Given the description of an element on the screen output the (x, y) to click on. 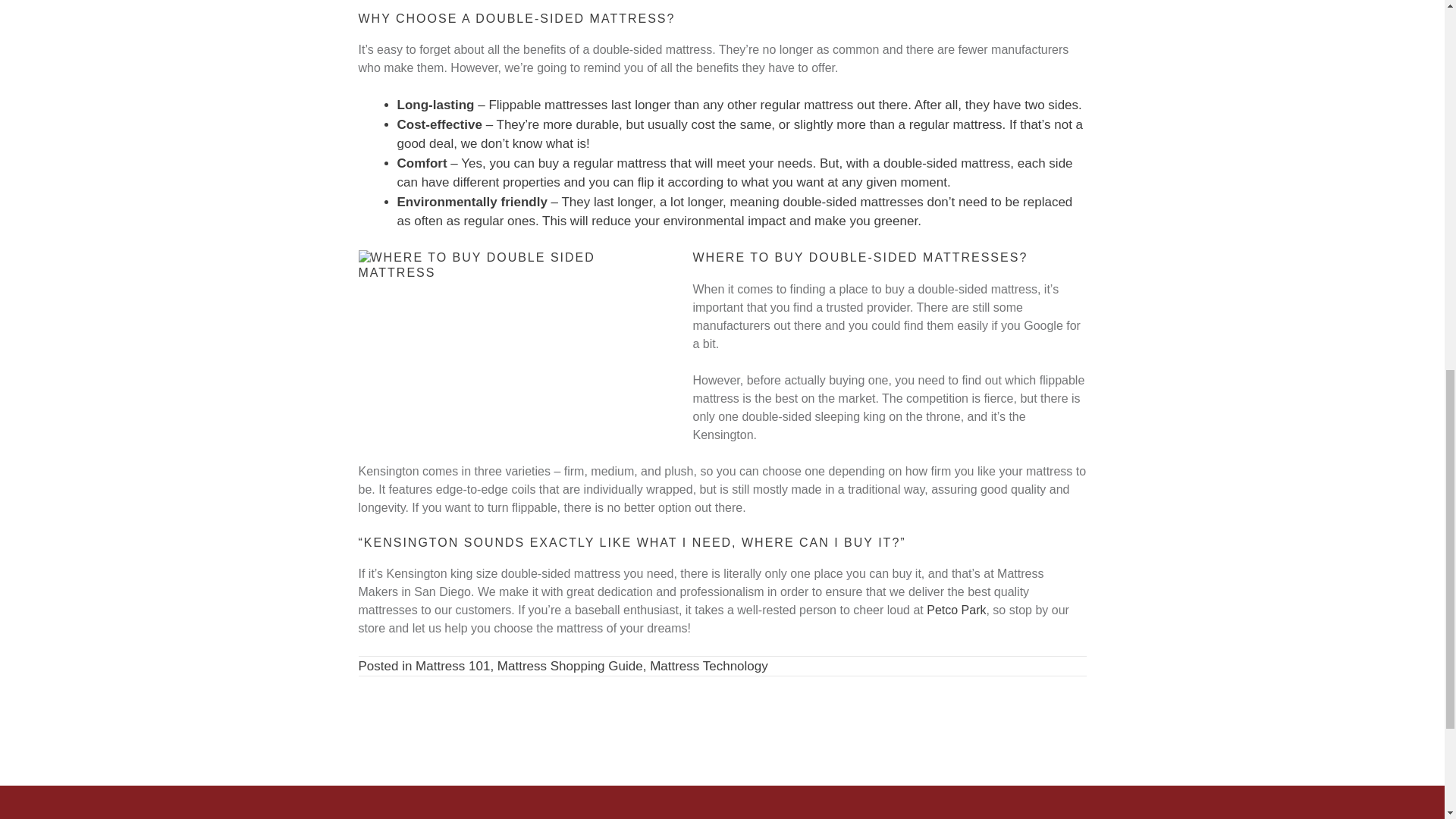
Mattress 101 (451, 666)
Petco Park (955, 609)
